Given the description of an element on the screen output the (x, y) to click on. 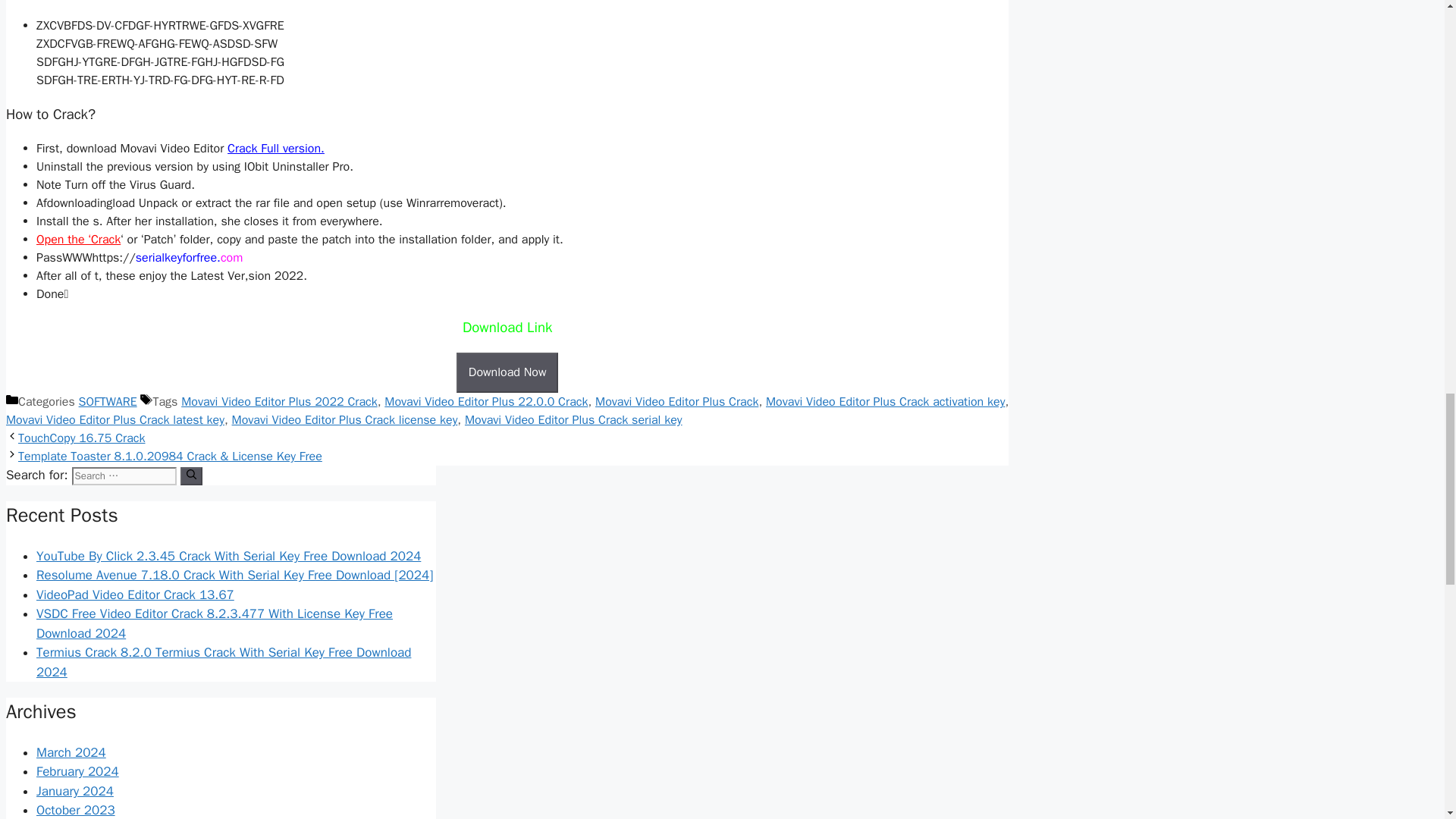
Download Now (508, 372)
Crack Full version. (275, 148)
Movavi Video Editor Plus 22.0.0 Crack (486, 401)
Movavi Video Editor Plus Crack activation key (884, 401)
SOFTWARE (107, 401)
Search for: (123, 475)
Download Now (508, 372)
Movavi Video Editor Plus 2022 Crack (278, 401)
Movavi Video Editor Plus Crack (676, 401)
